Given the description of an element on the screen output the (x, y) to click on. 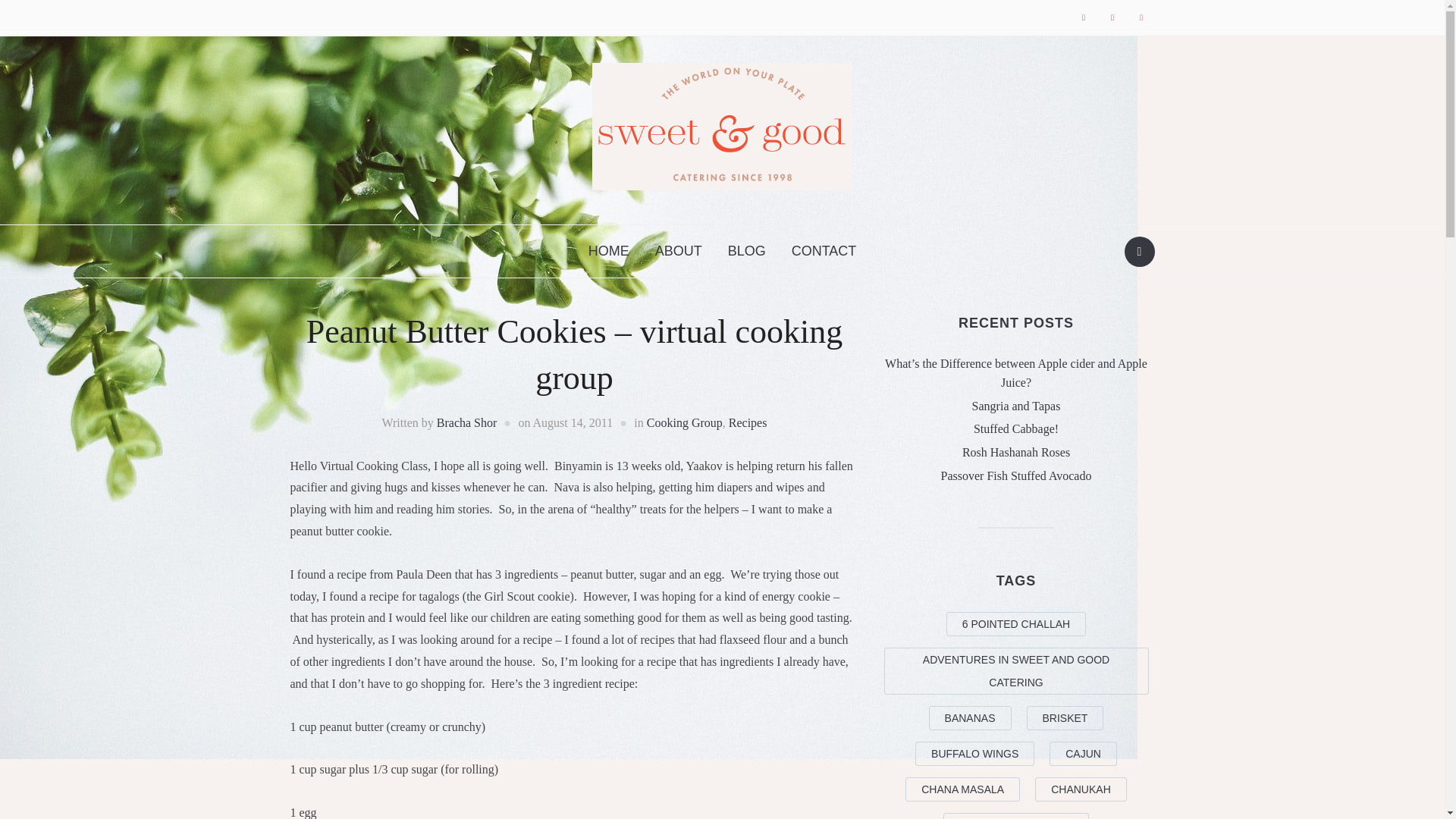
Search (1139, 251)
6 POINTED CHALLAH (1016, 623)
BLOG (746, 251)
Posts by Bracha Shor (466, 422)
Cooking Group (684, 422)
Instagram (1141, 17)
Recipes (748, 422)
BRISKET (1064, 717)
instagram (1141, 17)
ADVENTURES IN SWEET AND GOOD CATERING (1015, 670)
